Given the description of an element on the screen output the (x, y) to click on. 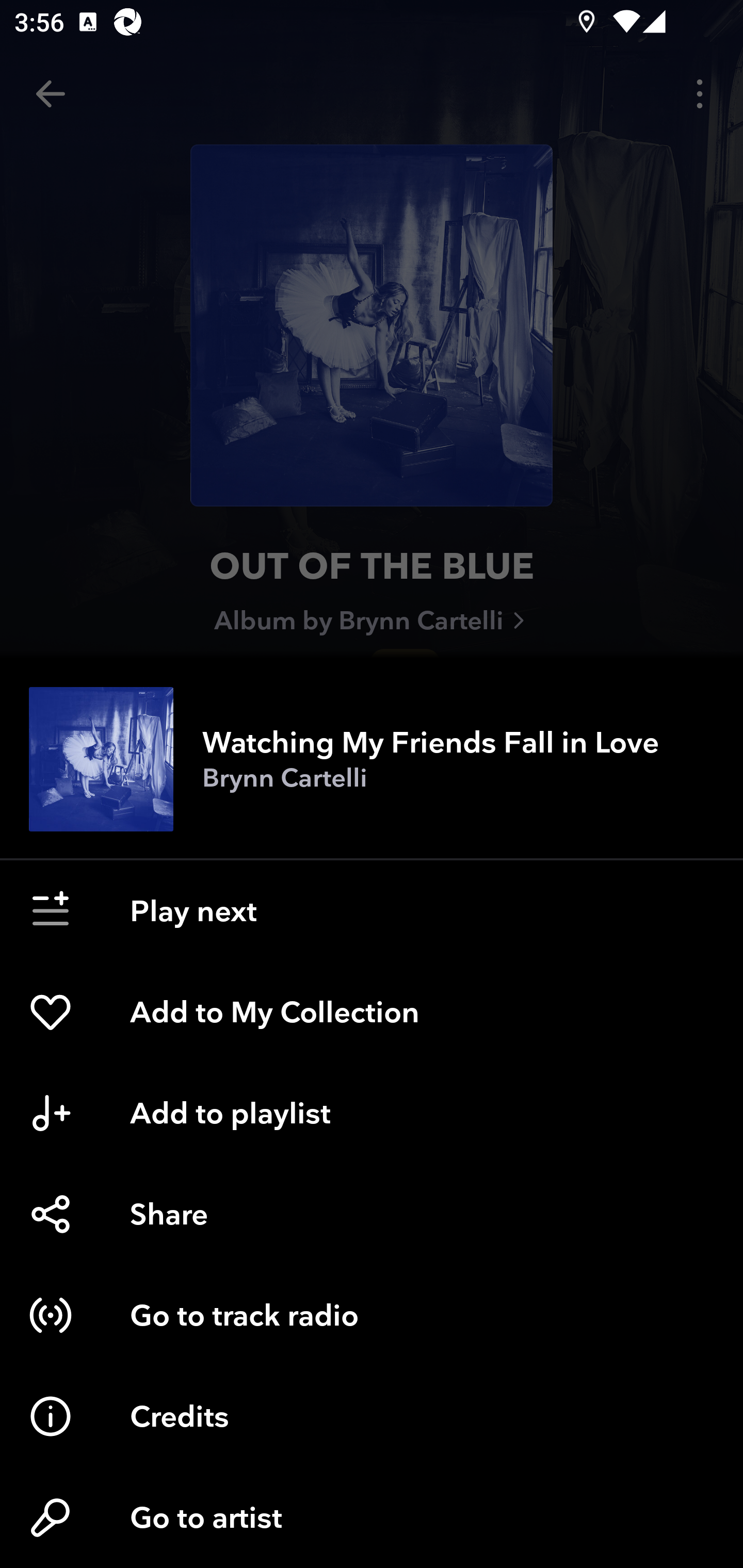
Play next (371, 910)
Add to My Collection (371, 1012)
Add to playlist (371, 1113)
Share (371, 1214)
Go to track radio (371, 1315)
Credits (371, 1416)
Go to artist (371, 1517)
